Given the description of an element on the screen output the (x, y) to click on. 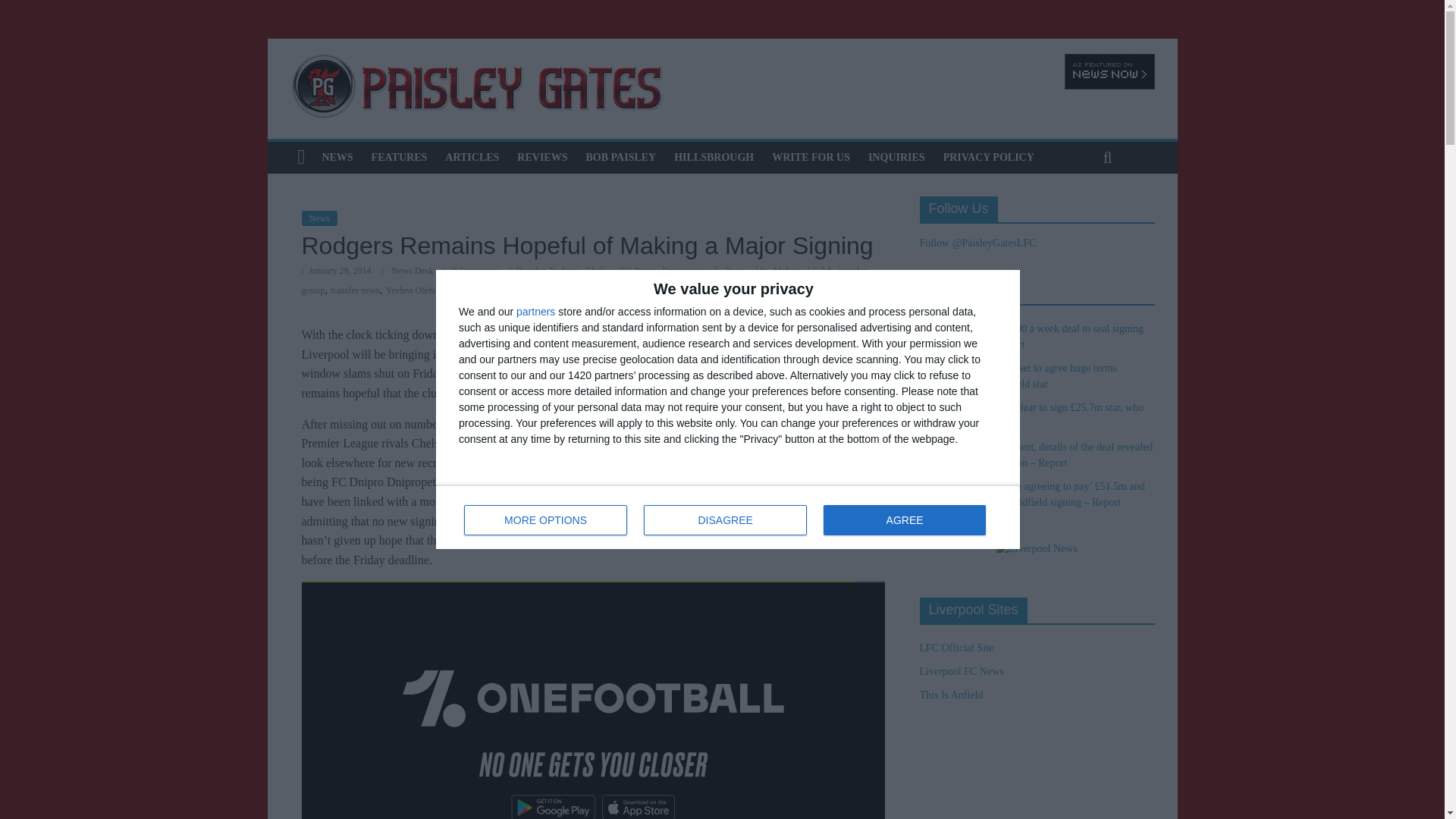
FEATURES (399, 157)
PRIVACY POLICY (988, 157)
liverpool fc (746, 270)
partners (535, 311)
FC Dnipro Dnipropetrovsk (669, 270)
REVIEWS (542, 157)
News (319, 218)
Chelsea (599, 270)
INQUIRIES (896, 157)
transfer news (354, 290)
